Given the description of an element on the screen output the (x, y) to click on. 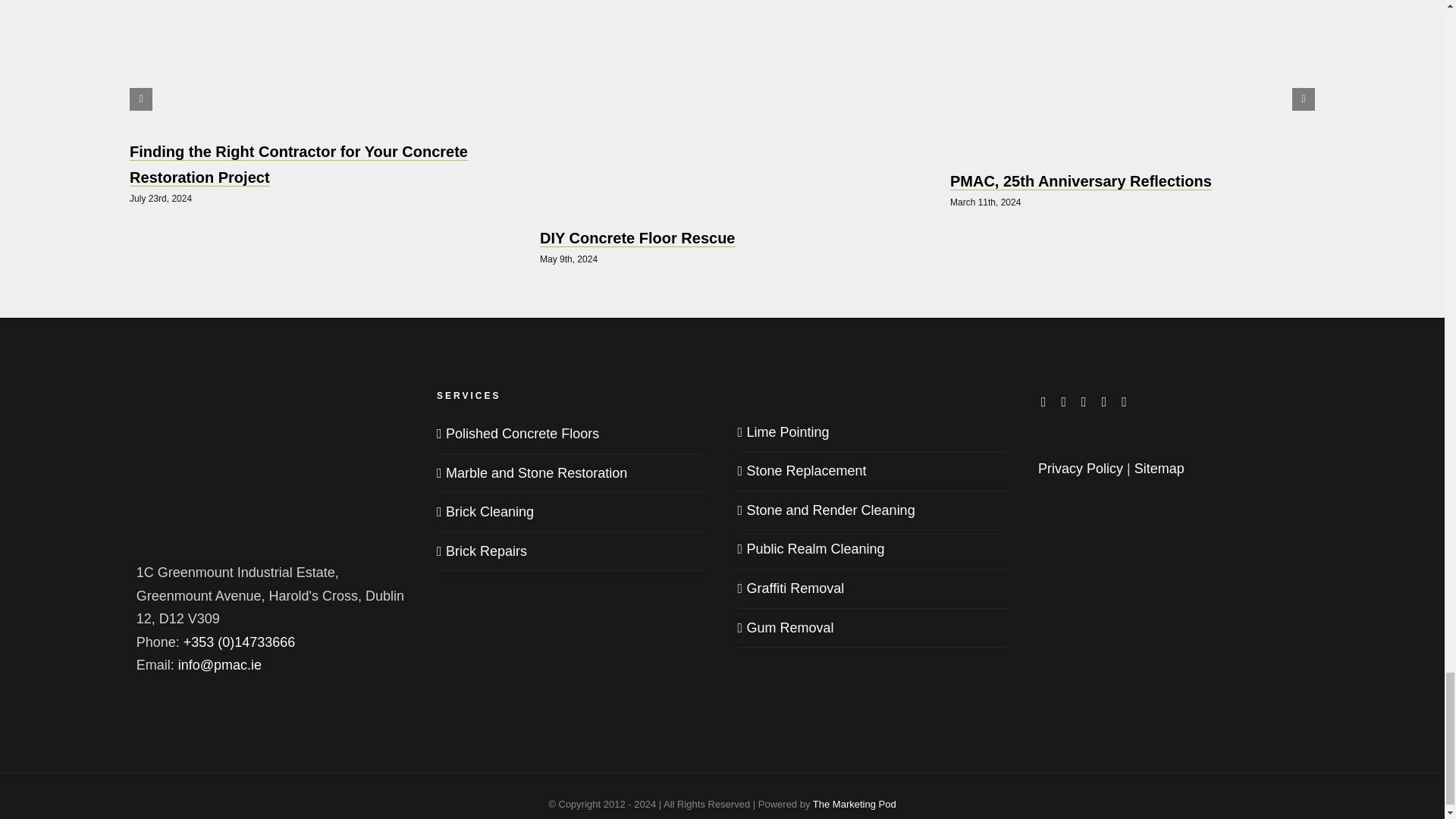
PMAC, 25th Anniversary Reflections (1080, 181)
DIY Concrete Floor Rescue (637, 238)
